Given the description of an element on the screen output the (x, y) to click on. 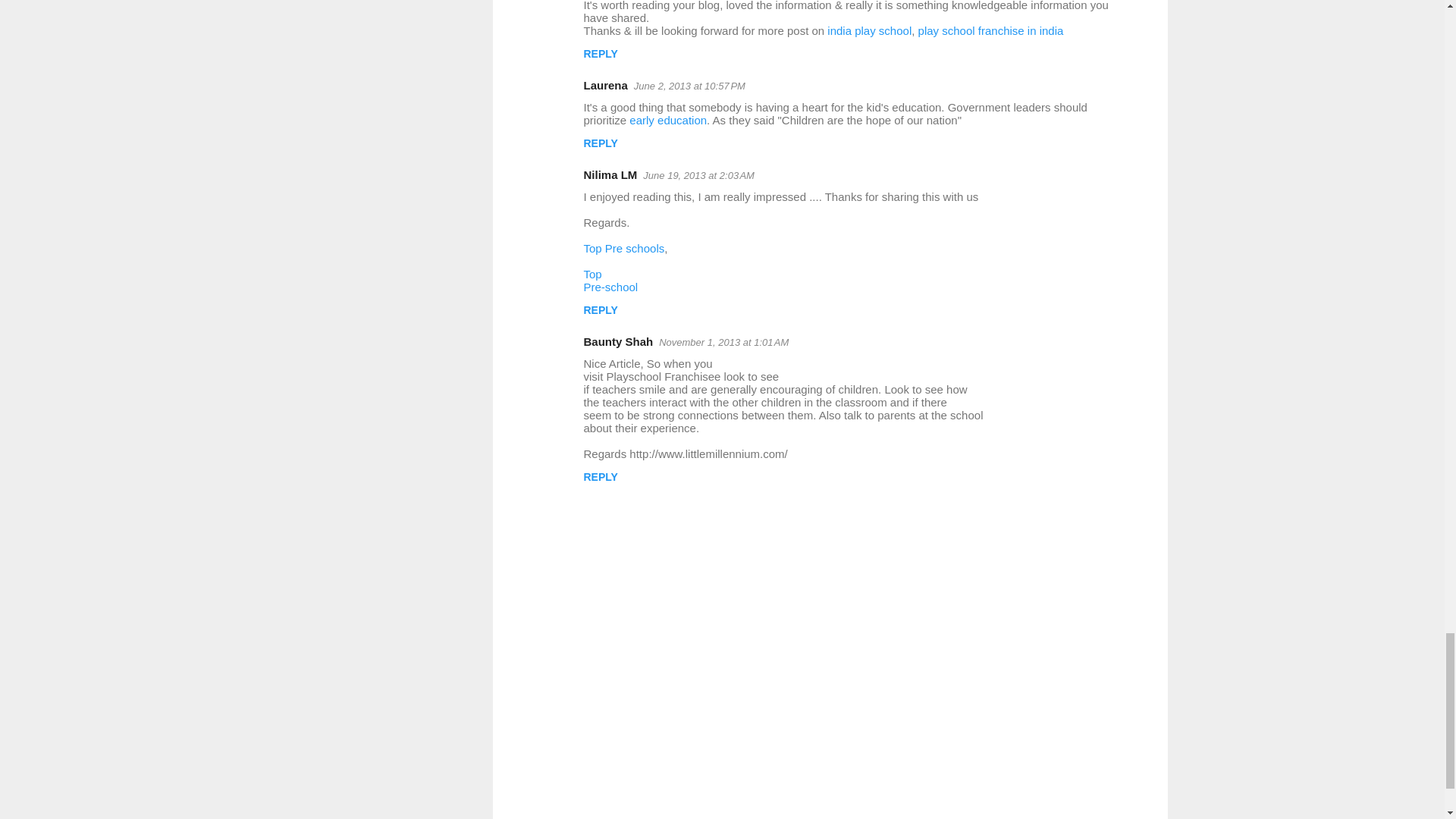
play school franchise in india (991, 30)
REPLY (600, 143)
REPLY (600, 53)
early education (667, 119)
india play school (869, 30)
